Given the description of an element on the screen output the (x, y) to click on. 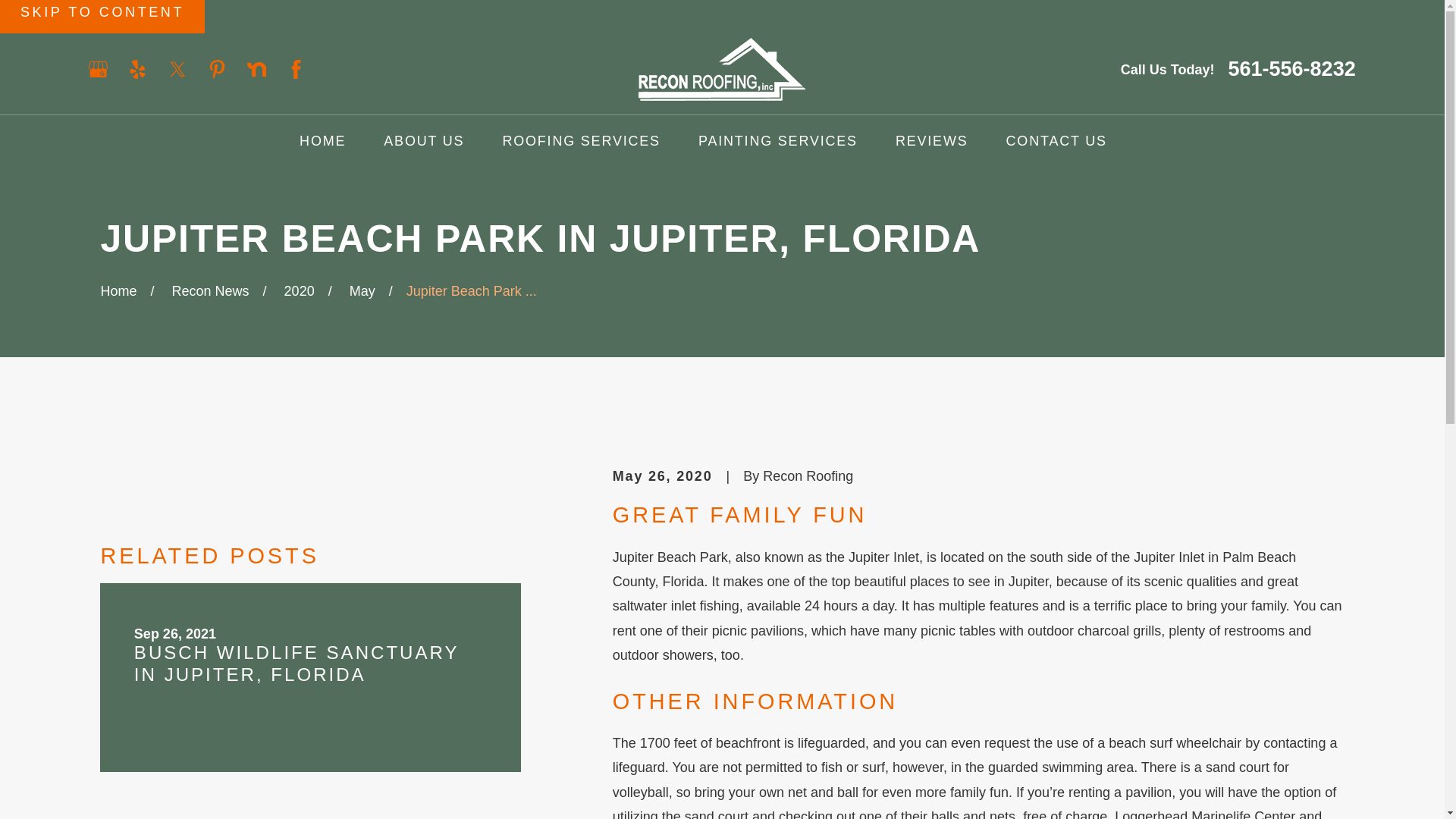
Google Business Profile (97, 68)
SKIP TO CONTENT (102, 16)
Nextdoor (256, 68)
Facebook (295, 68)
Twitter (177, 68)
Pinterest (217, 68)
561-556-8232 (1291, 68)
PAINTING SERVICES (777, 141)
CONTACT US (1056, 141)
ROOFING SERVICES (581, 141)
